Given the description of an element on the screen output the (x, y) to click on. 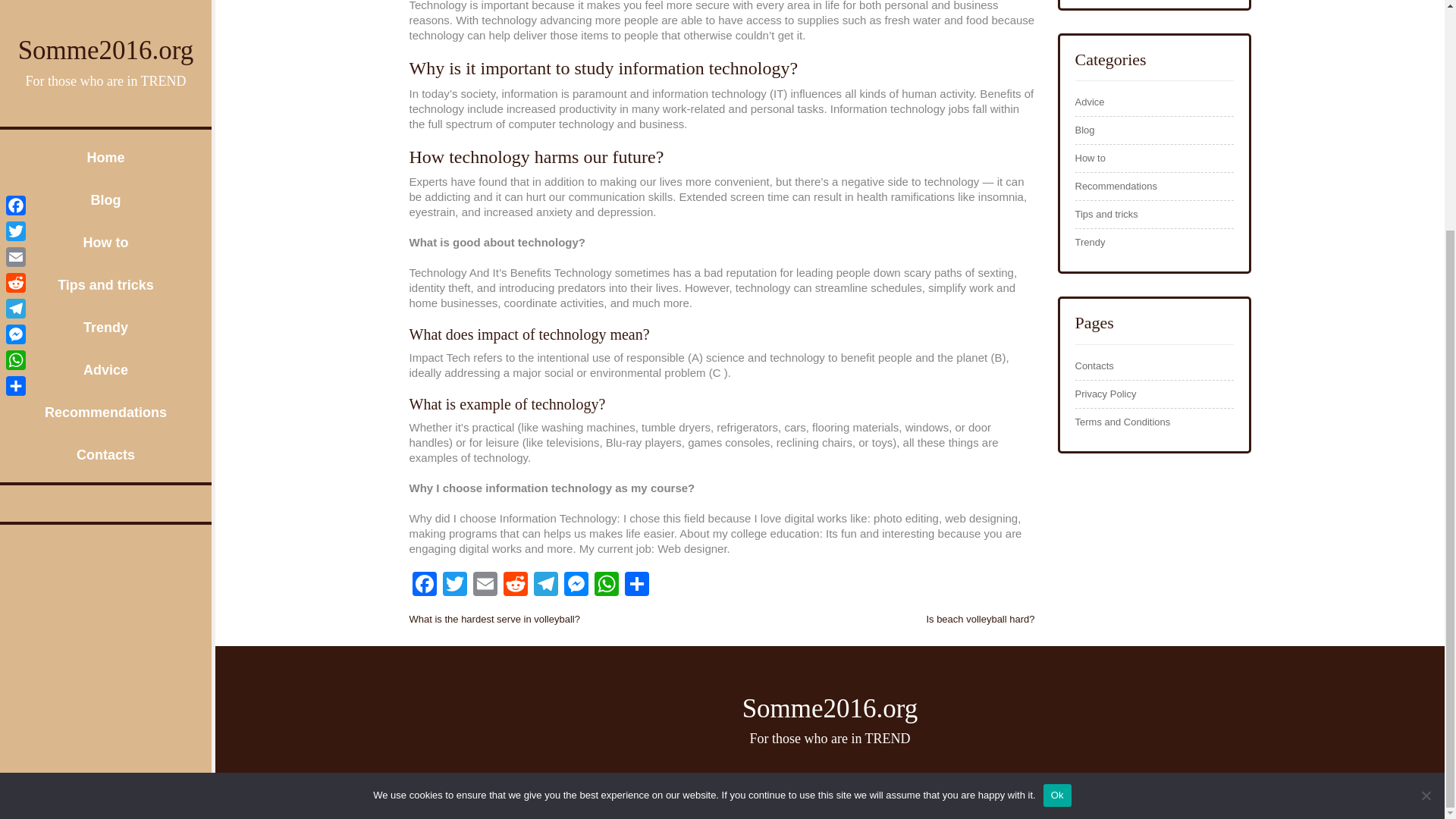
Reddit (515, 585)
WhatsApp (606, 585)
Is beach volleyball hard? (979, 618)
Trendy (105, 18)
Twitter (454, 585)
Trendy (1090, 242)
Email (485, 585)
No (1425, 483)
WhatsApp (15, 48)
Facebook (424, 585)
